Given the description of an element on the screen output the (x, y) to click on. 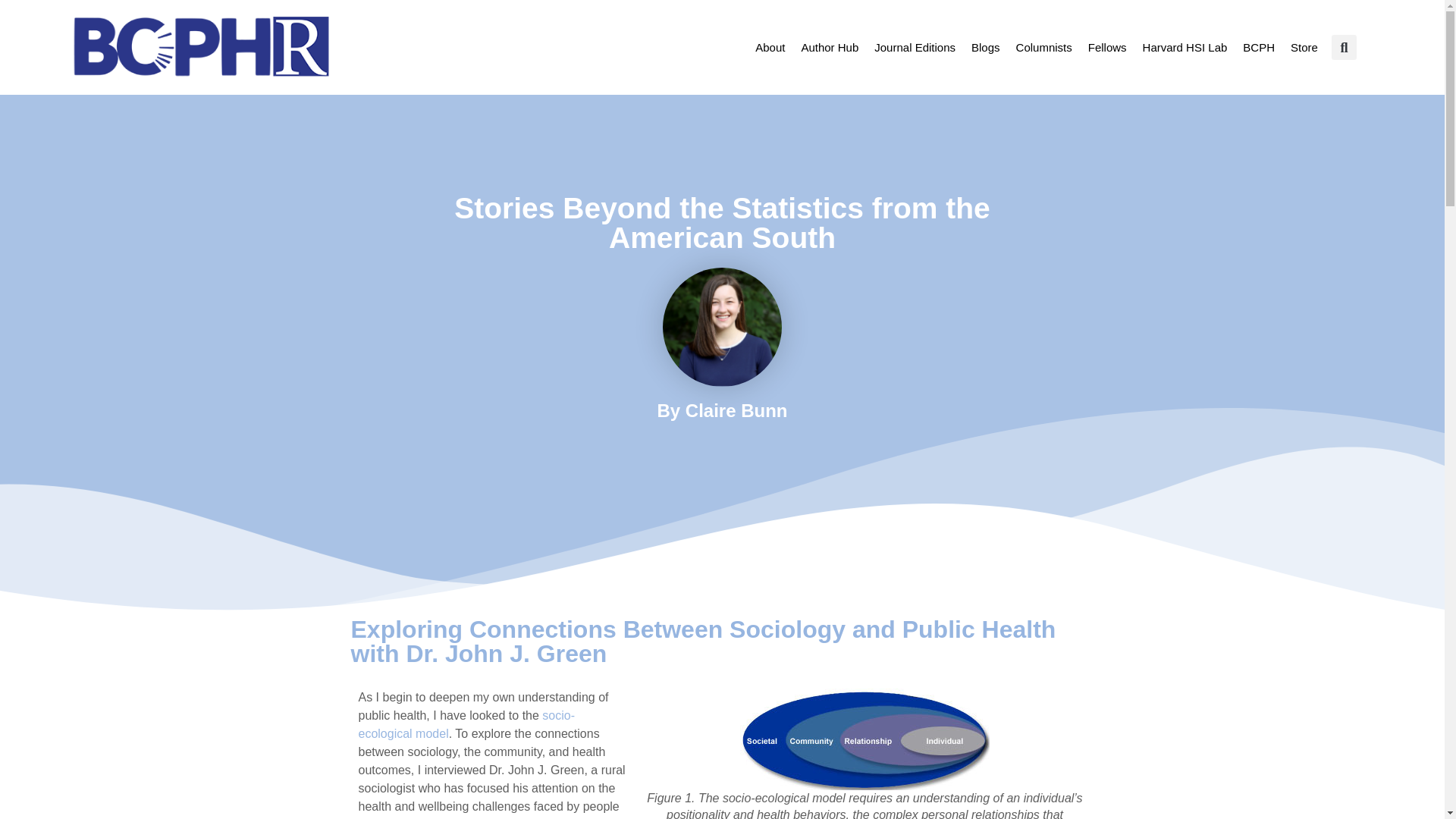
Blogs (985, 47)
Store (1304, 47)
Columnists (1043, 47)
Author Hub (828, 47)
Fellows (1107, 47)
Journal Editions (914, 47)
Harvard HSI Lab (1184, 47)
About (770, 47)
BCPH (1258, 47)
